Given the description of an element on the screen output the (x, y) to click on. 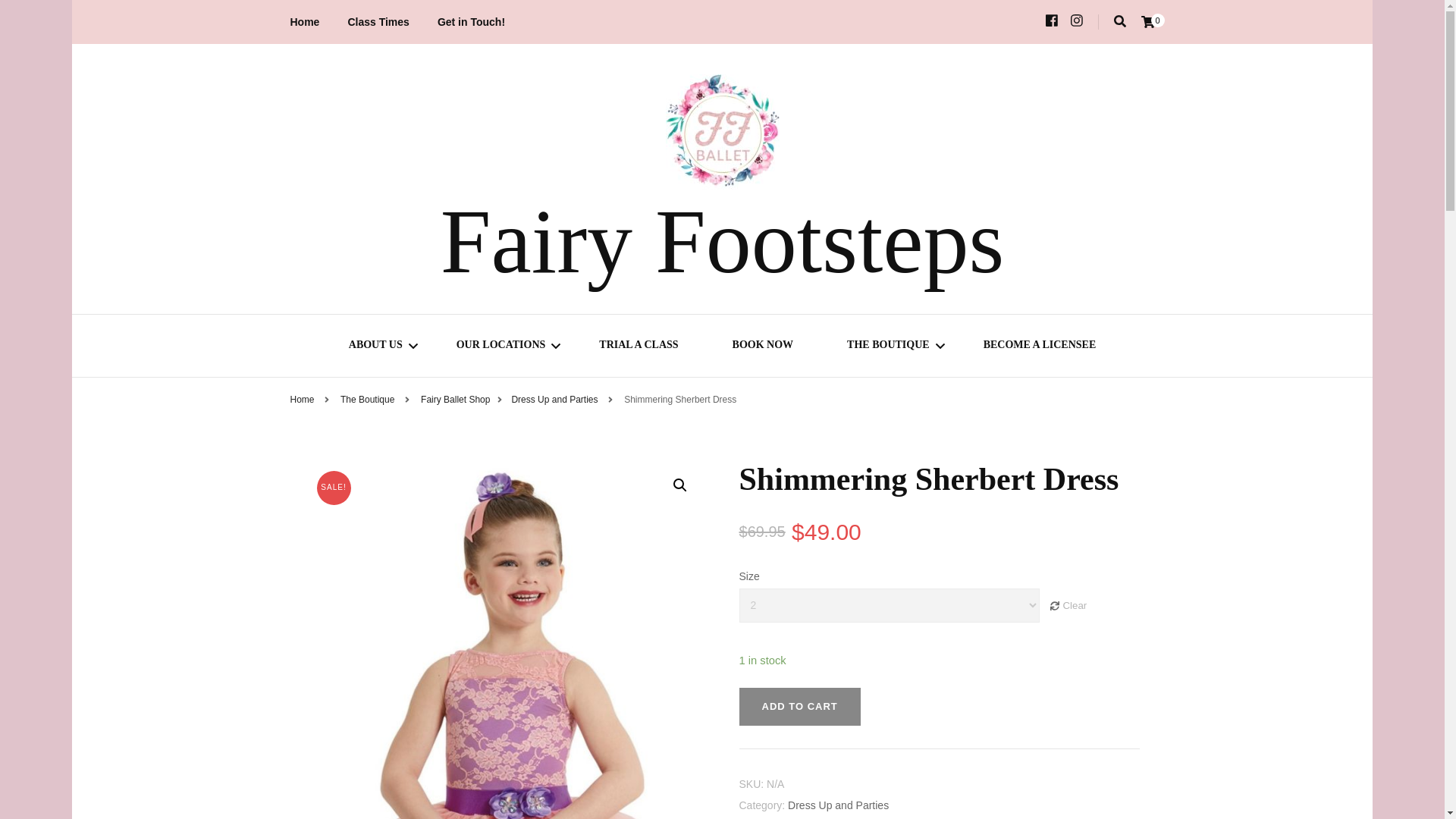
Get in Touch! (471, 21)
TRIAL A CLASS (638, 346)
0 (1147, 21)
BOOK NOW (762, 346)
OUR LOCATIONS (501, 346)
Home (303, 21)
View your shopping cart (1147, 21)
THE BOUTIQUE (888, 346)
Class Times (378, 21)
ABOUT US (376, 346)
Fairy Footsteps (722, 240)
